Given the description of an element on the screen output the (x, y) to click on. 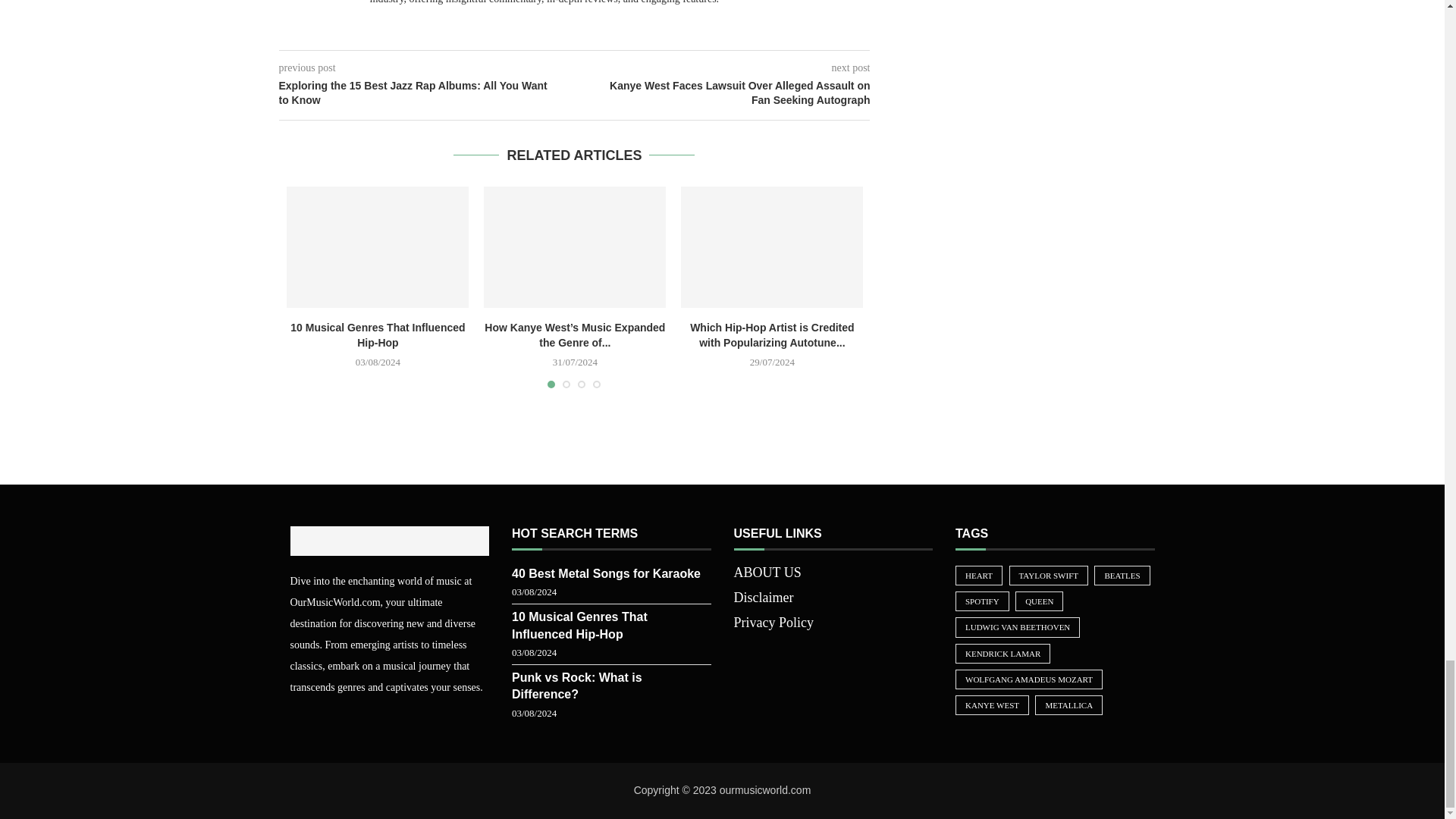
10 Musical Genres That Influenced Hip-Hop (377, 246)
